Given the description of an element on the screen output the (x, y) to click on. 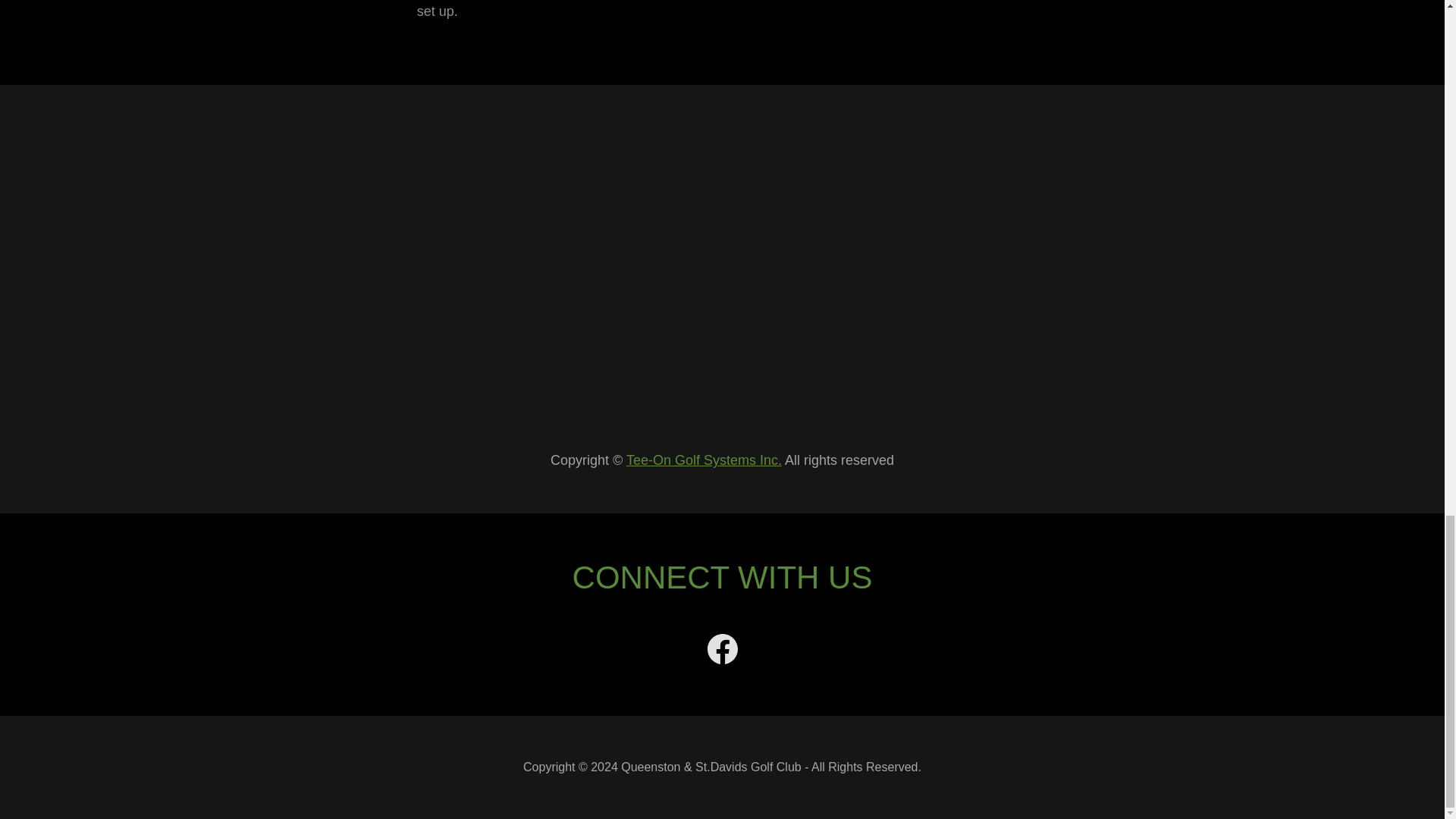
Tee-On Golf Systems Inc. (703, 459)
